Given the description of an element on the screen output the (x, y) to click on. 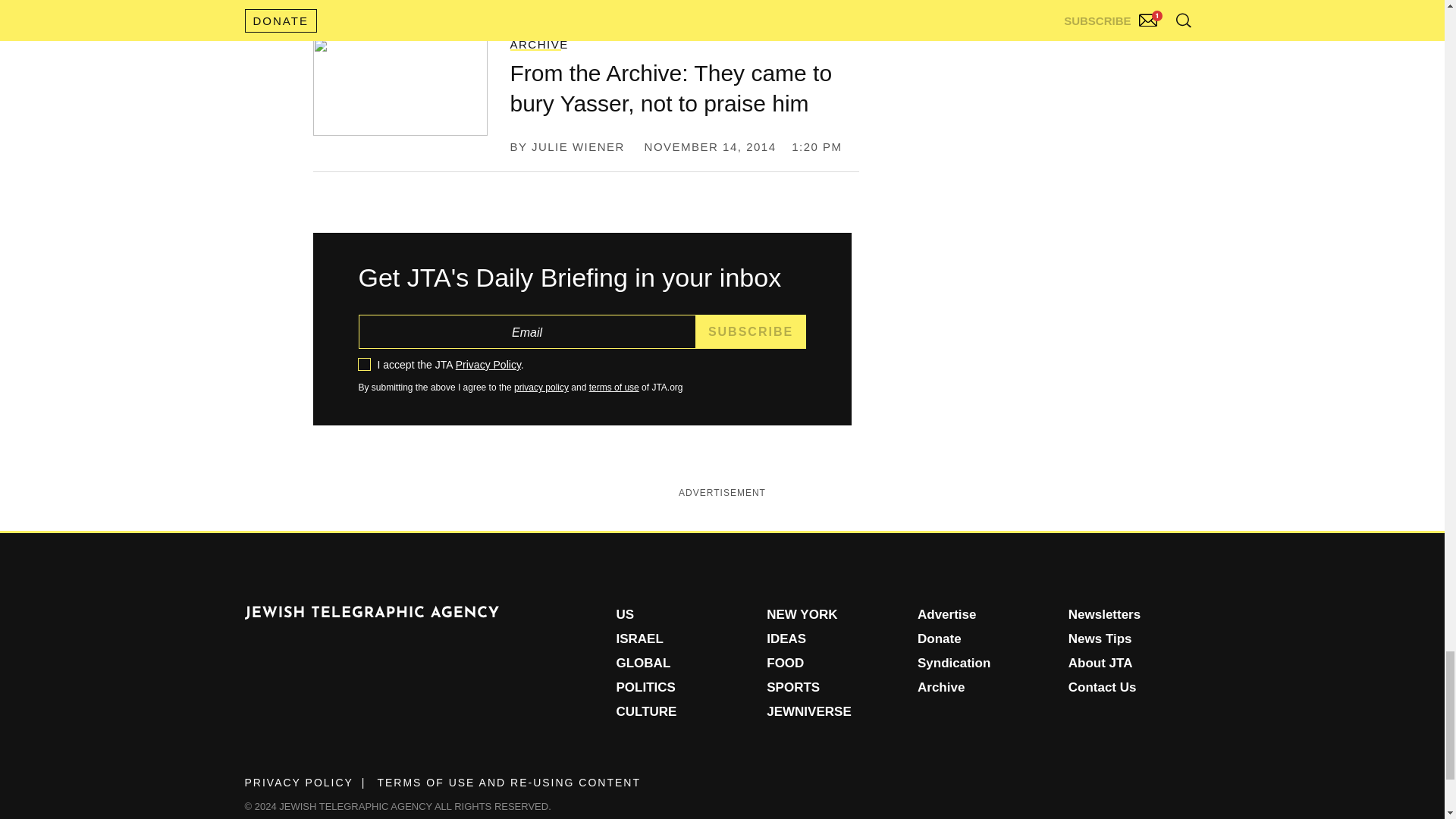
Subscribe (750, 331)
